Given the description of an element on the screen output the (x, y) to click on. 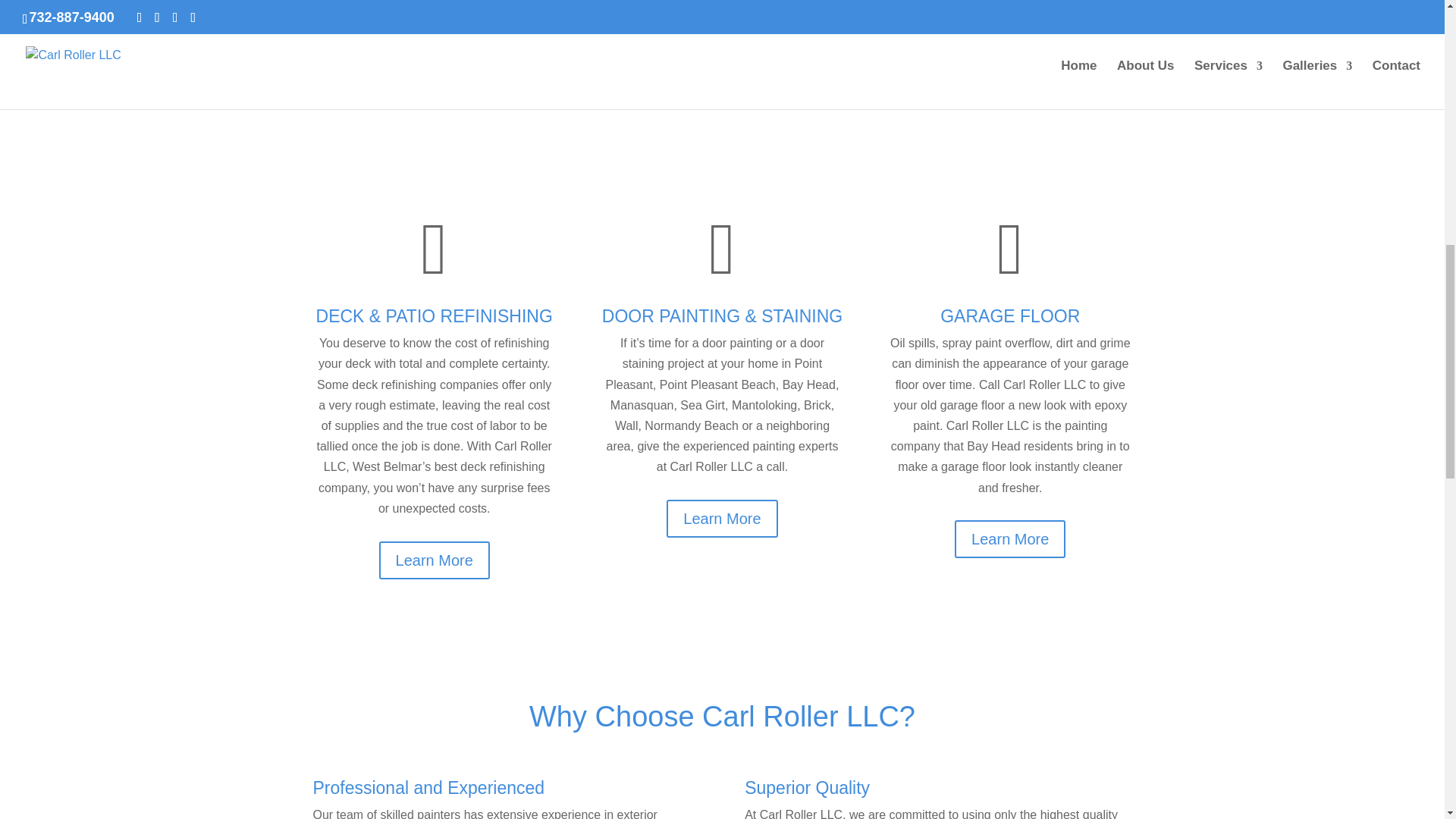
Learn More (1010, 538)
Learn More (433, 560)
Learn More (721, 518)
